Given the description of an element on the screen output the (x, y) to click on. 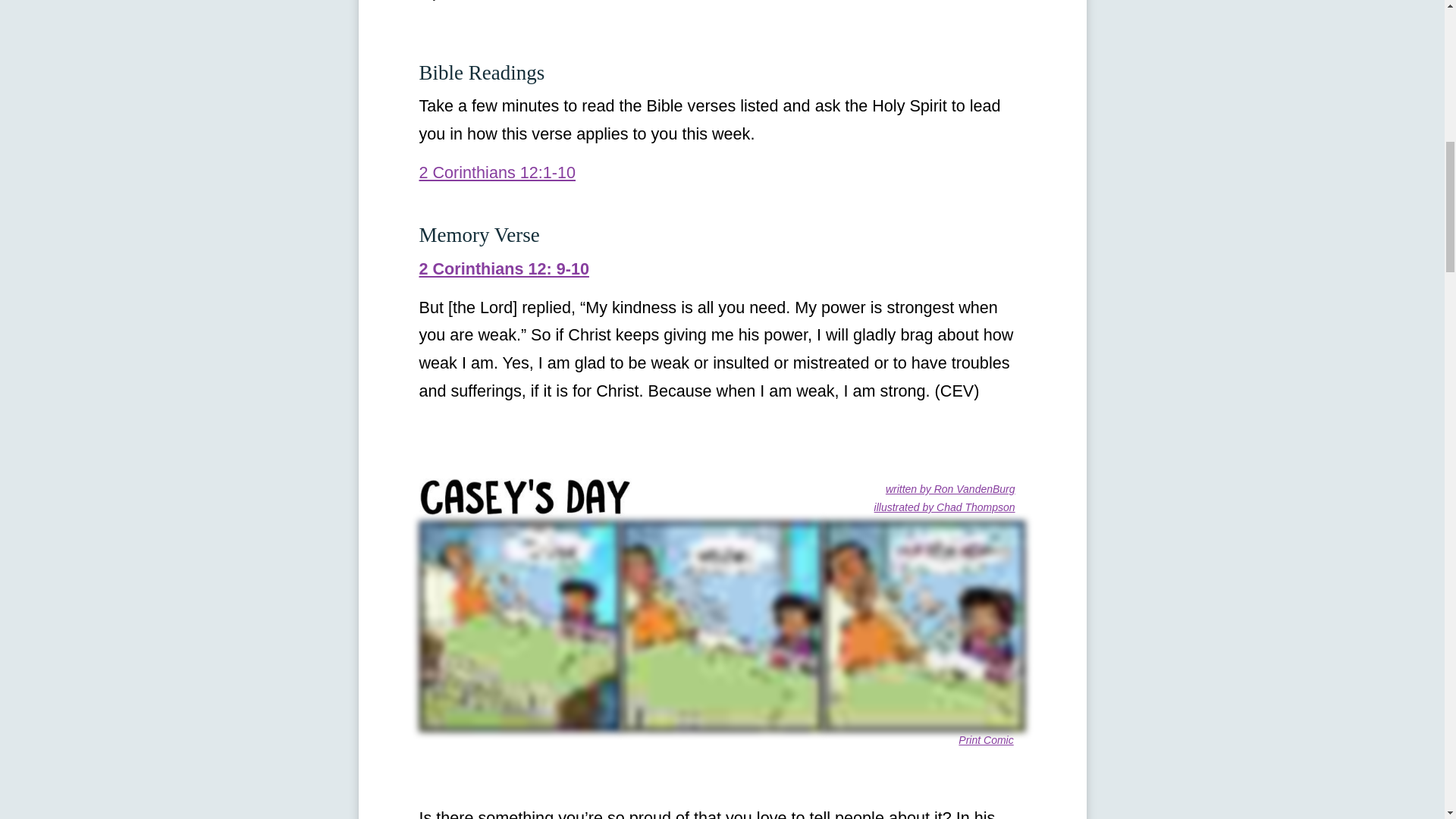
written by Ron VandenBurg (949, 489)
2 Corinthians 12:1-10 (497, 171)
illustrated by Chad Thompson (944, 507)
Print Comic (985, 739)
2 Corinthians 12: 9-10 (503, 268)
